Given the description of an element on the screen output the (x, y) to click on. 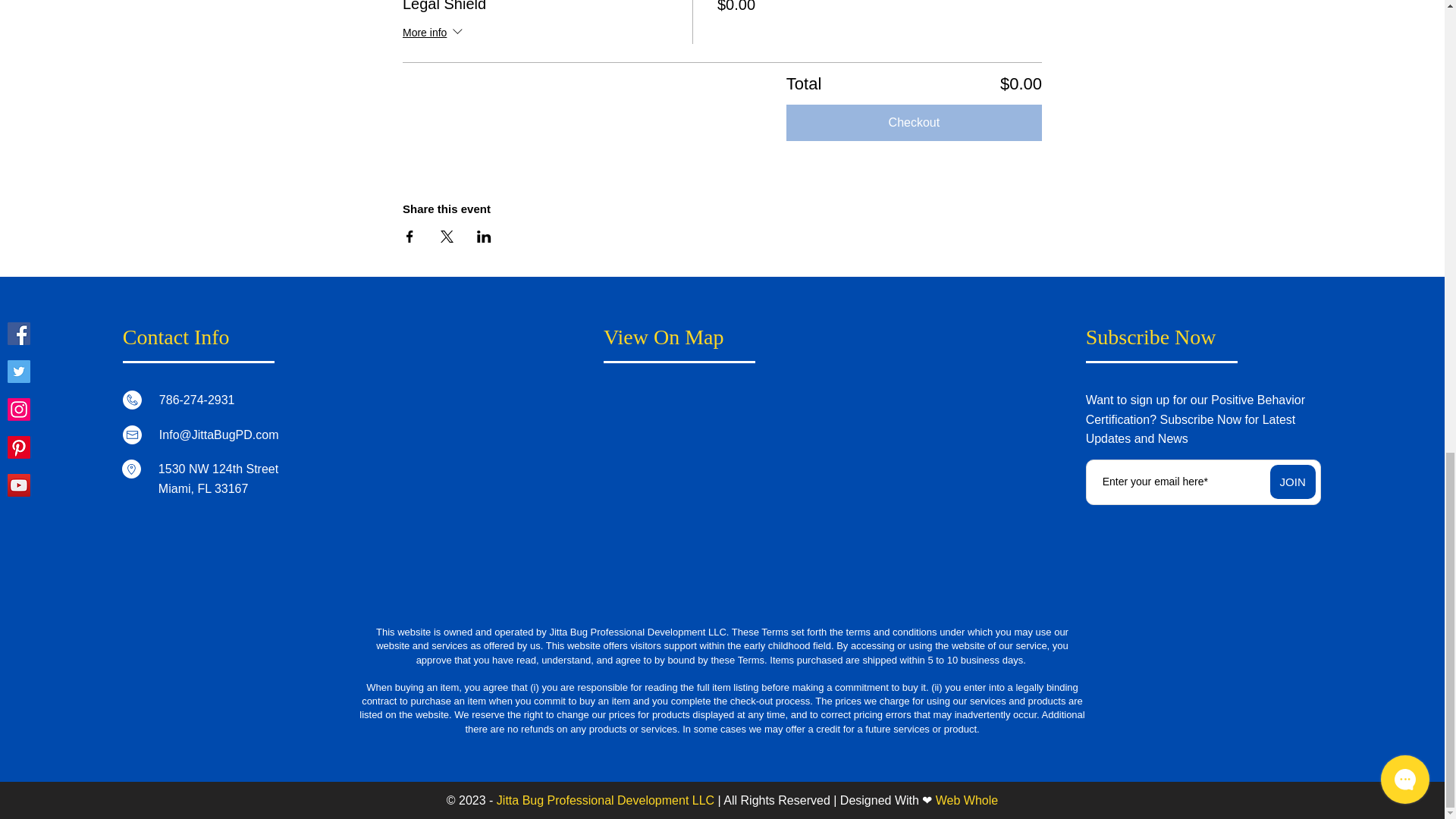
Google Maps (721, 484)
